Given the description of an element on the screen output the (x, y) to click on. 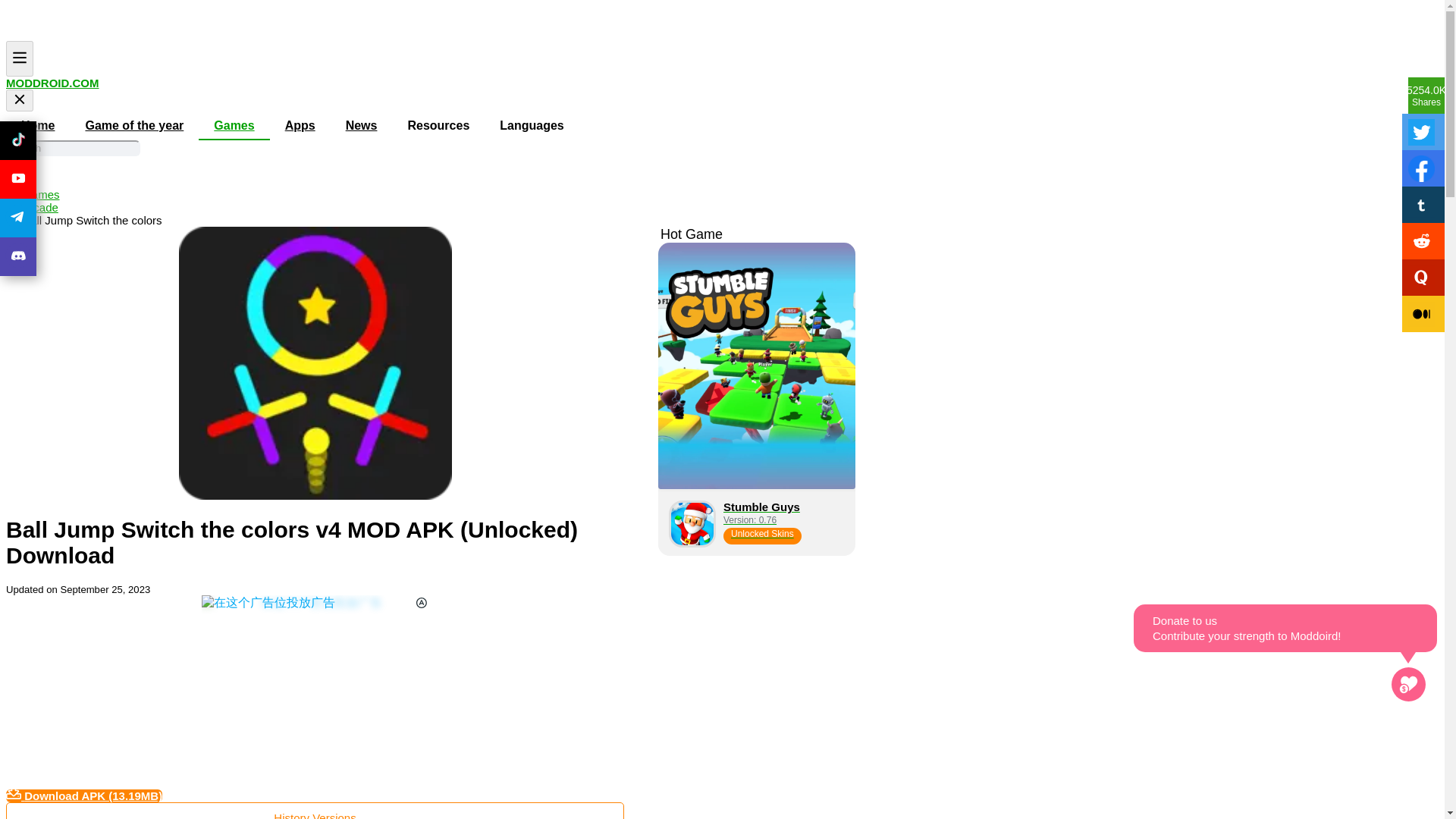
MODDROID.COM (52, 82)
Apps (299, 125)
News (361, 125)
Resources (437, 125)
Games (233, 125)
Home (39, 206)
Home (41, 194)
Home (20, 181)
Home (37, 125)
Game of the year (133, 125)
Languages (531, 125)
